Given the description of an element on the screen output the (x, y) to click on. 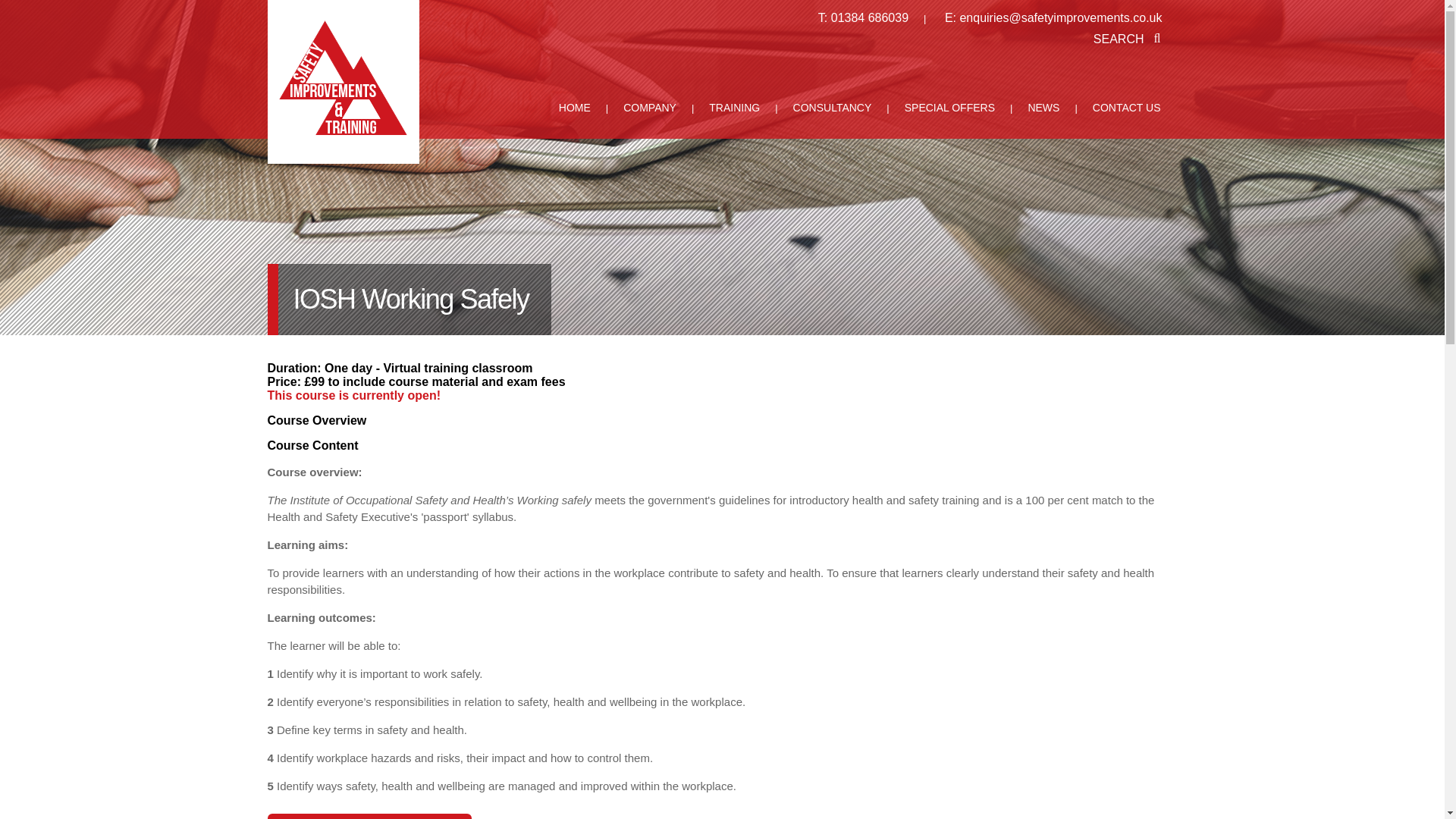
SPECIAL OFFERS (951, 117)
NEWS (1044, 117)
Download Information Sheet (368, 816)
Home (574, 117)
T: 01384 686039 (864, 18)
CONTACT US (1126, 117)
HOME (575, 117)
